Given the description of an element on the screen output the (x, y) to click on. 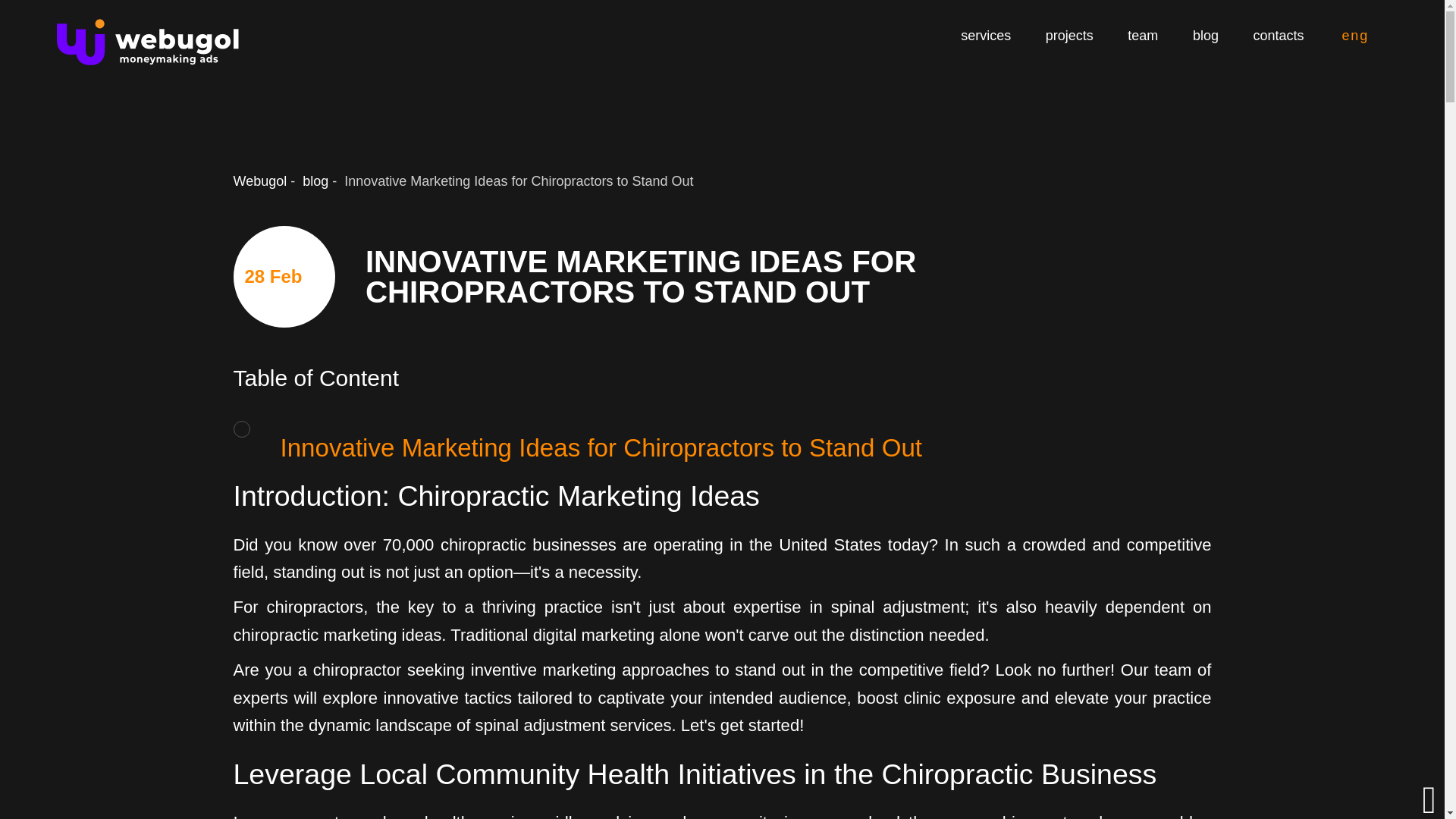
projects (1069, 18)
contacts (1279, 21)
team (1142, 19)
blog (1205, 20)
services (985, 10)
